Given the description of an element on the screen output the (x, y) to click on. 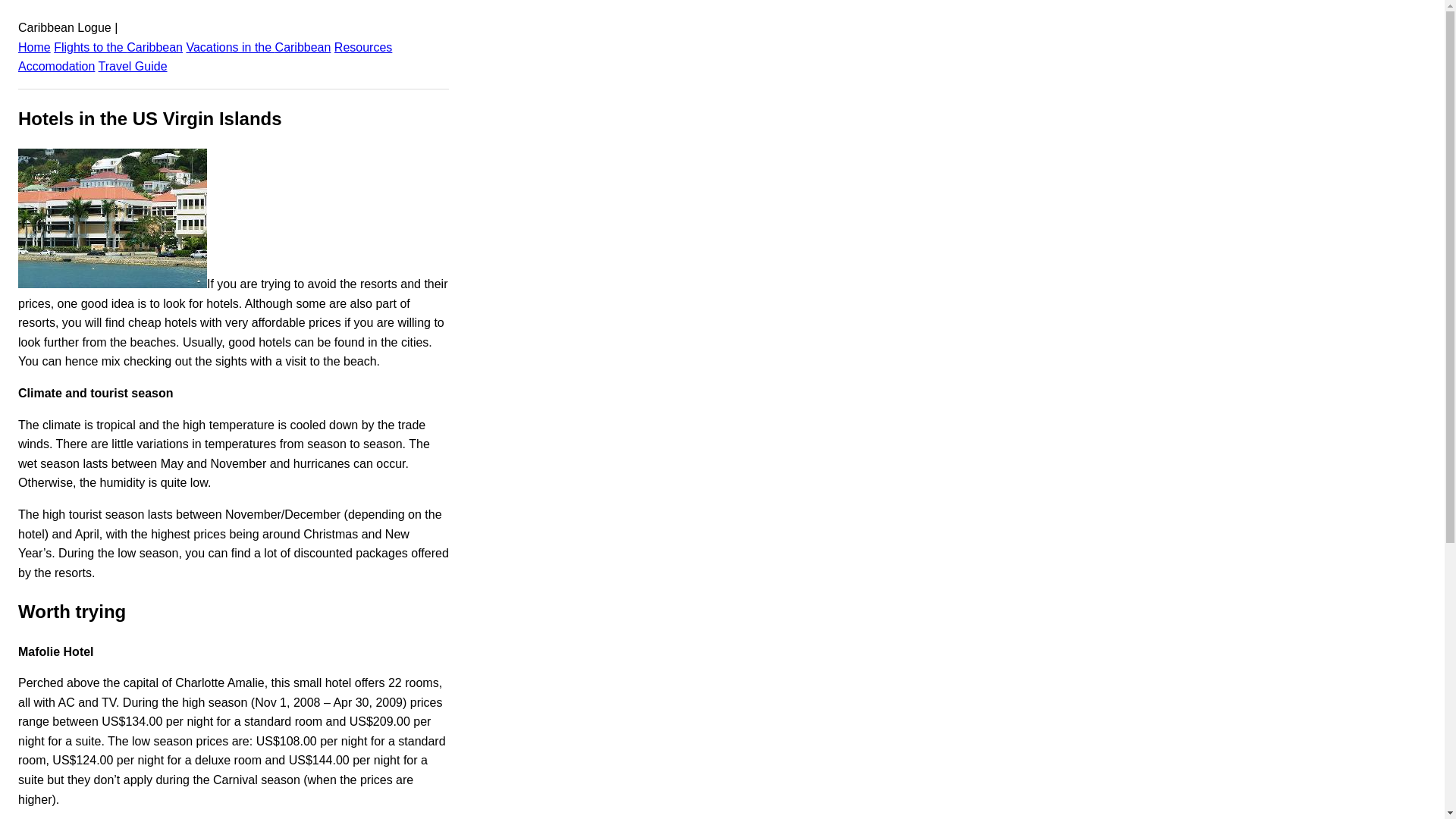
Vacations in the Caribbean (258, 47)
Home (33, 47)
Travel Guide (133, 65)
Resources (362, 47)
Flights to the Caribbean (118, 47)
Accomodation (55, 65)
